Given the description of an element on the screen output the (x, y) to click on. 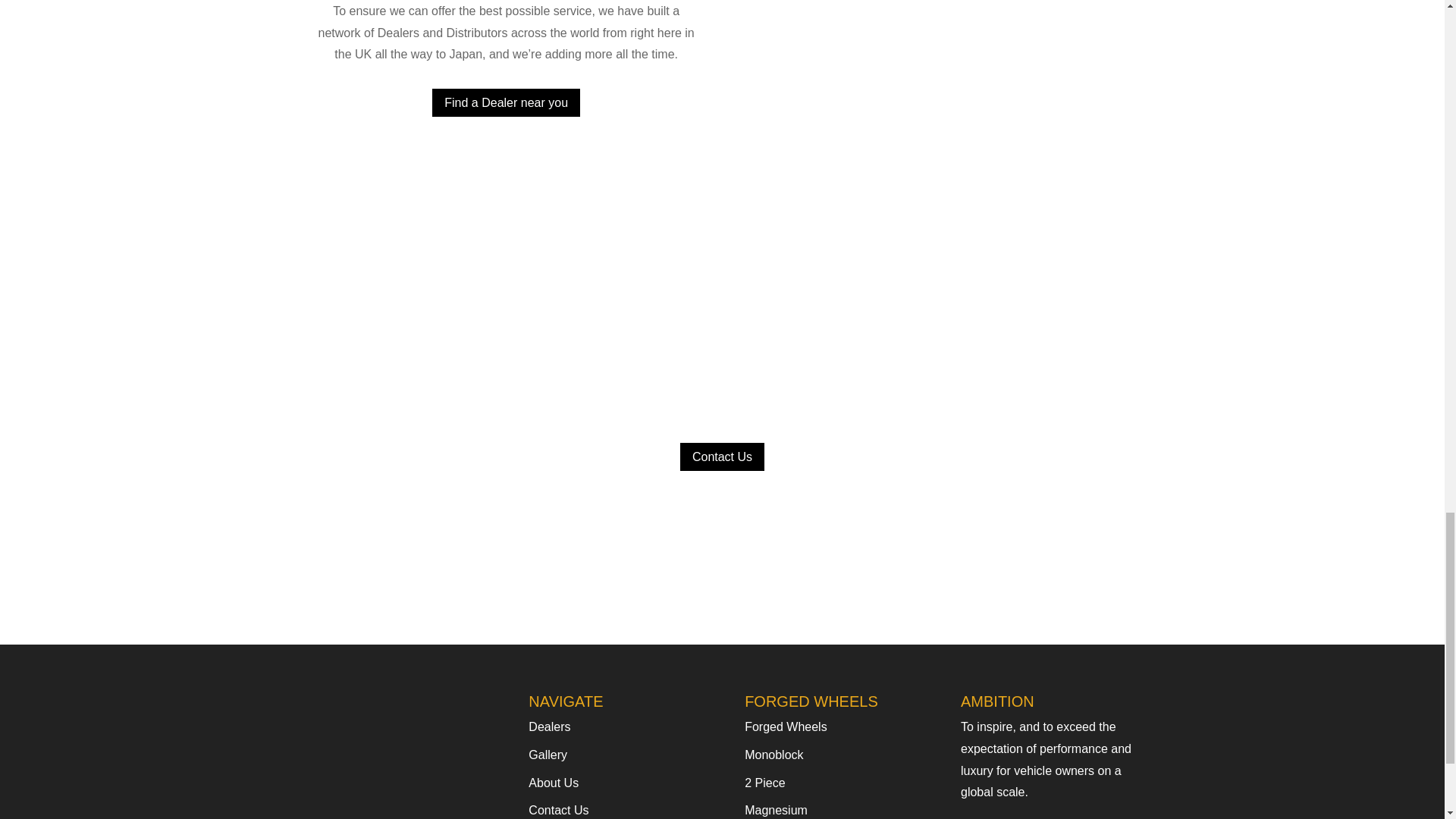
Magnesium (776, 809)
Dealers (549, 726)
Gallery (547, 754)
Forged Wheels (785, 726)
Contact Us (558, 809)
2 Piece (764, 782)
Find a Dealer near you (505, 102)
About Us (553, 782)
Contact Us (721, 456)
Monoblock (773, 754)
